Given the description of an element on the screen output the (x, y) to click on. 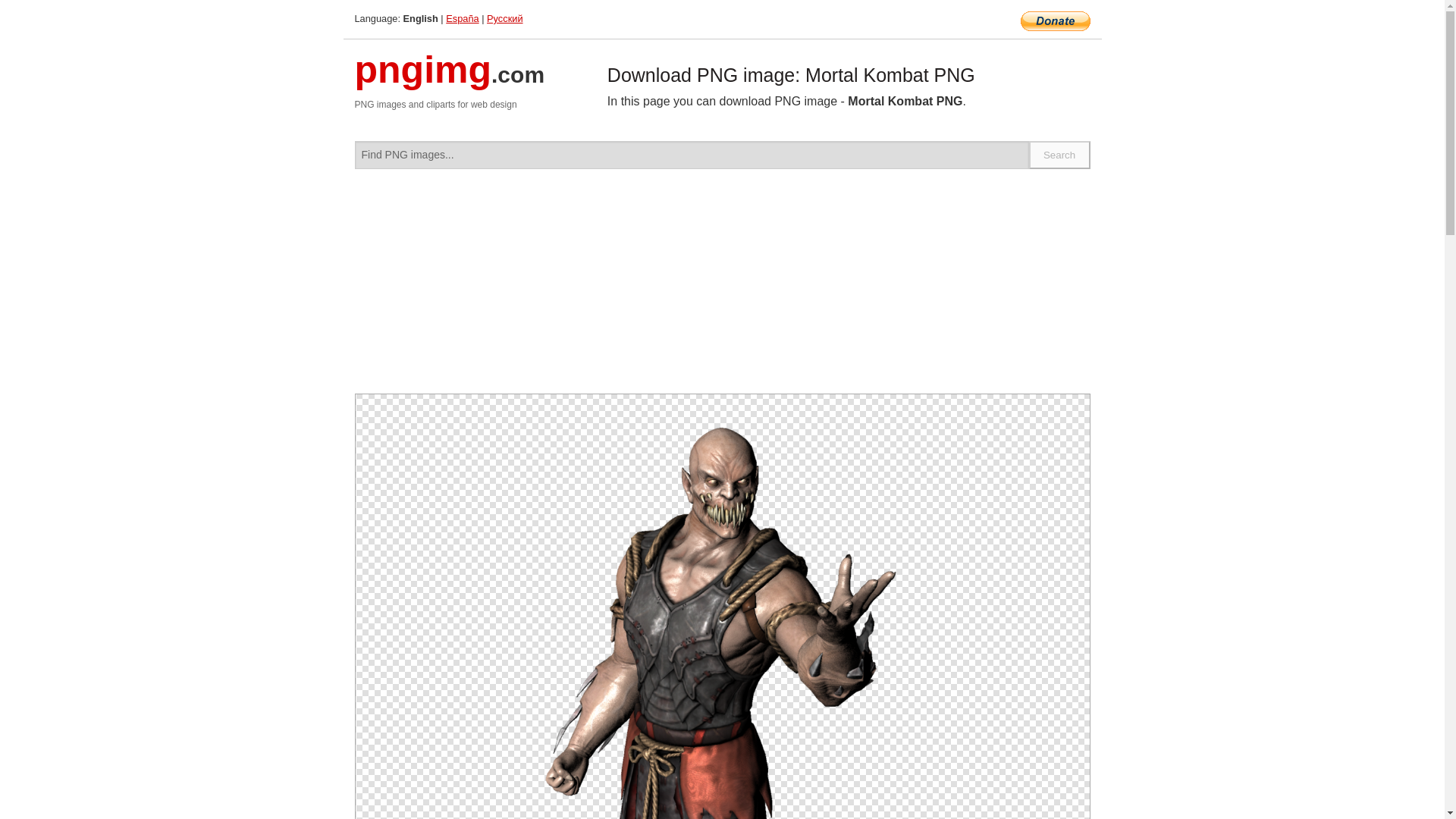
Search (1059, 154)
pngimg.com (449, 78)
Search (1059, 154)
